Given the description of an element on the screen output the (x, y) to click on. 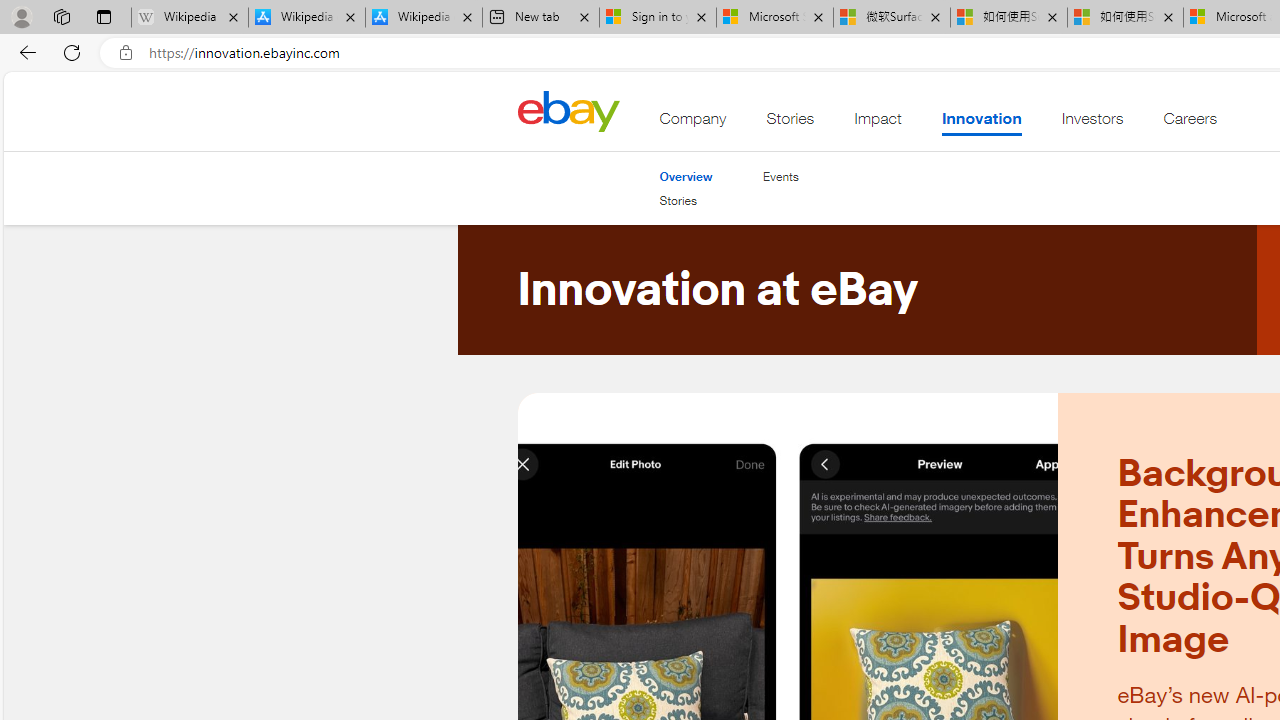
Stories (678, 200)
Class: desktop (568, 110)
Stories (685, 201)
Investors (1092, 123)
Events (779, 176)
